Given the description of an element on the screen output the (x, y) to click on. 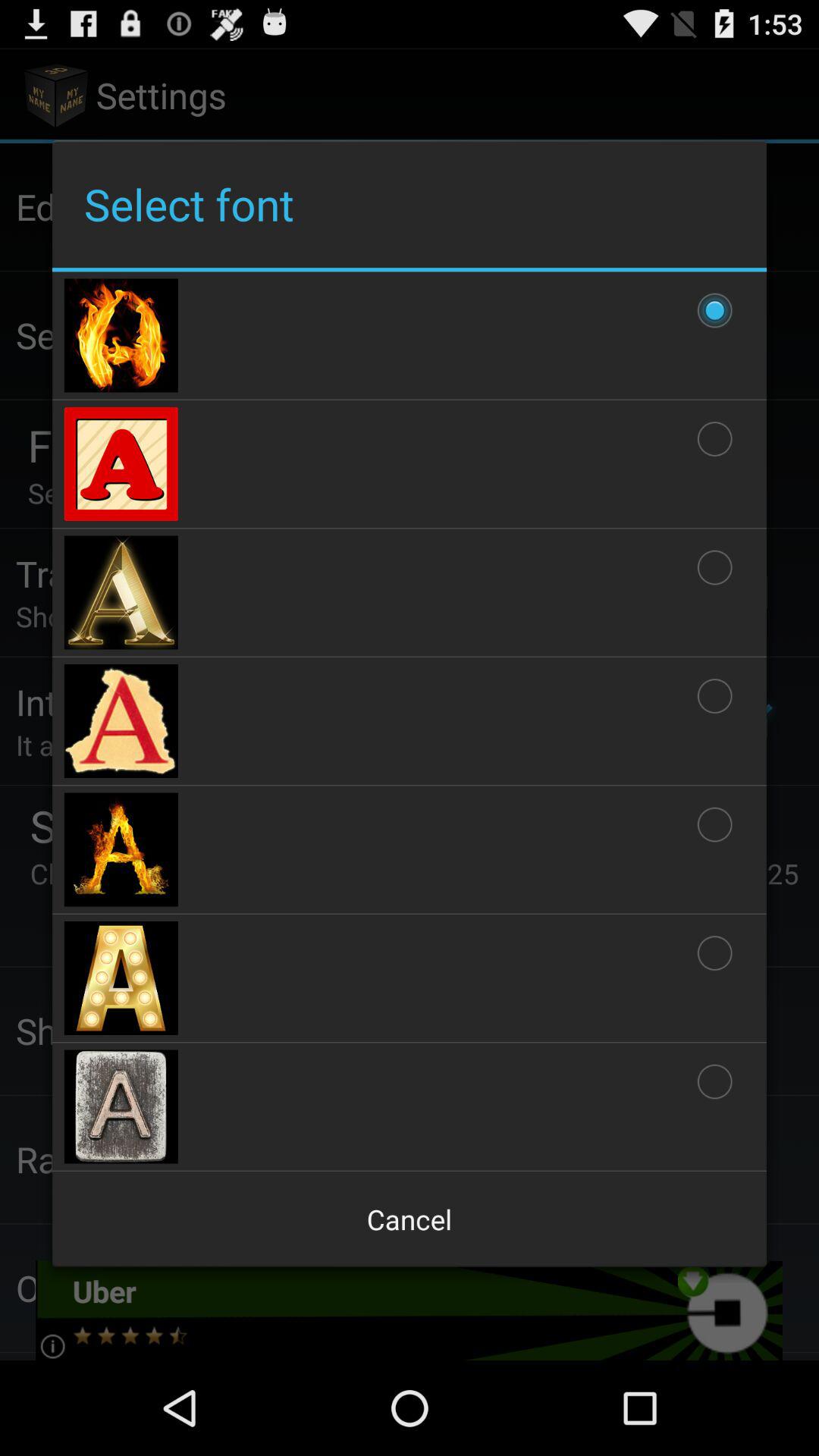
open the app below (409, 1219)
